Given the description of an element on the screen output the (x, y) to click on. 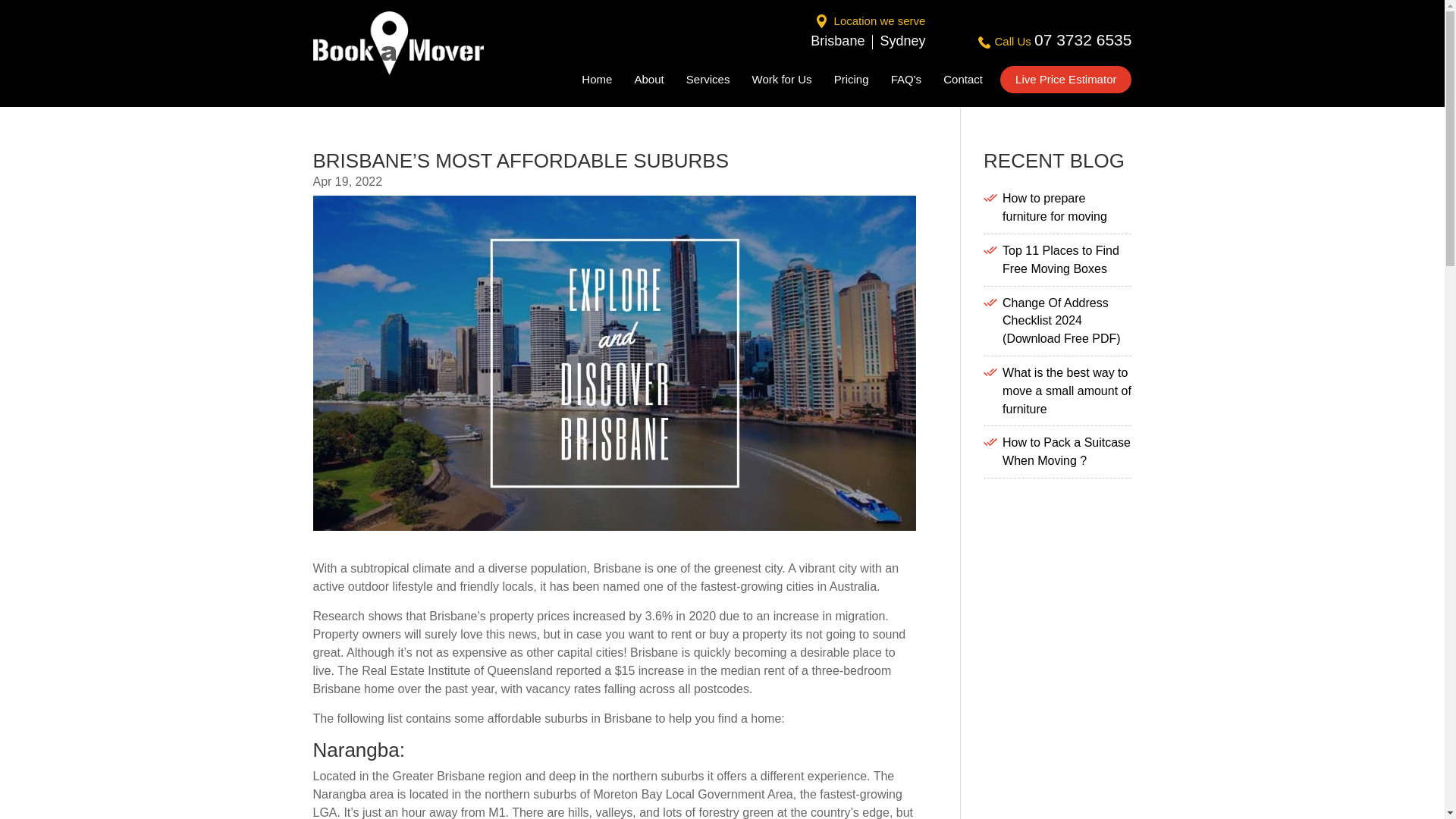
FAQ's (906, 82)
Contact (963, 82)
Sydney (901, 41)
07 3732 6535 (1082, 40)
How to prepare furniture for moving (1054, 206)
Pricing (851, 82)
How to Pack a Suitcase When Moving ? (1067, 450)
About (648, 82)
Home (595, 82)
Live Price Estimator (1065, 79)
Work for Us (782, 82)
Top 11 Places to Find Free Moving Boxes (1061, 259)
What is the best way to move a small amount of furniture (1067, 390)
Brisbane (837, 41)
Services (708, 82)
